Given the description of an element on the screen output the (x, y) to click on. 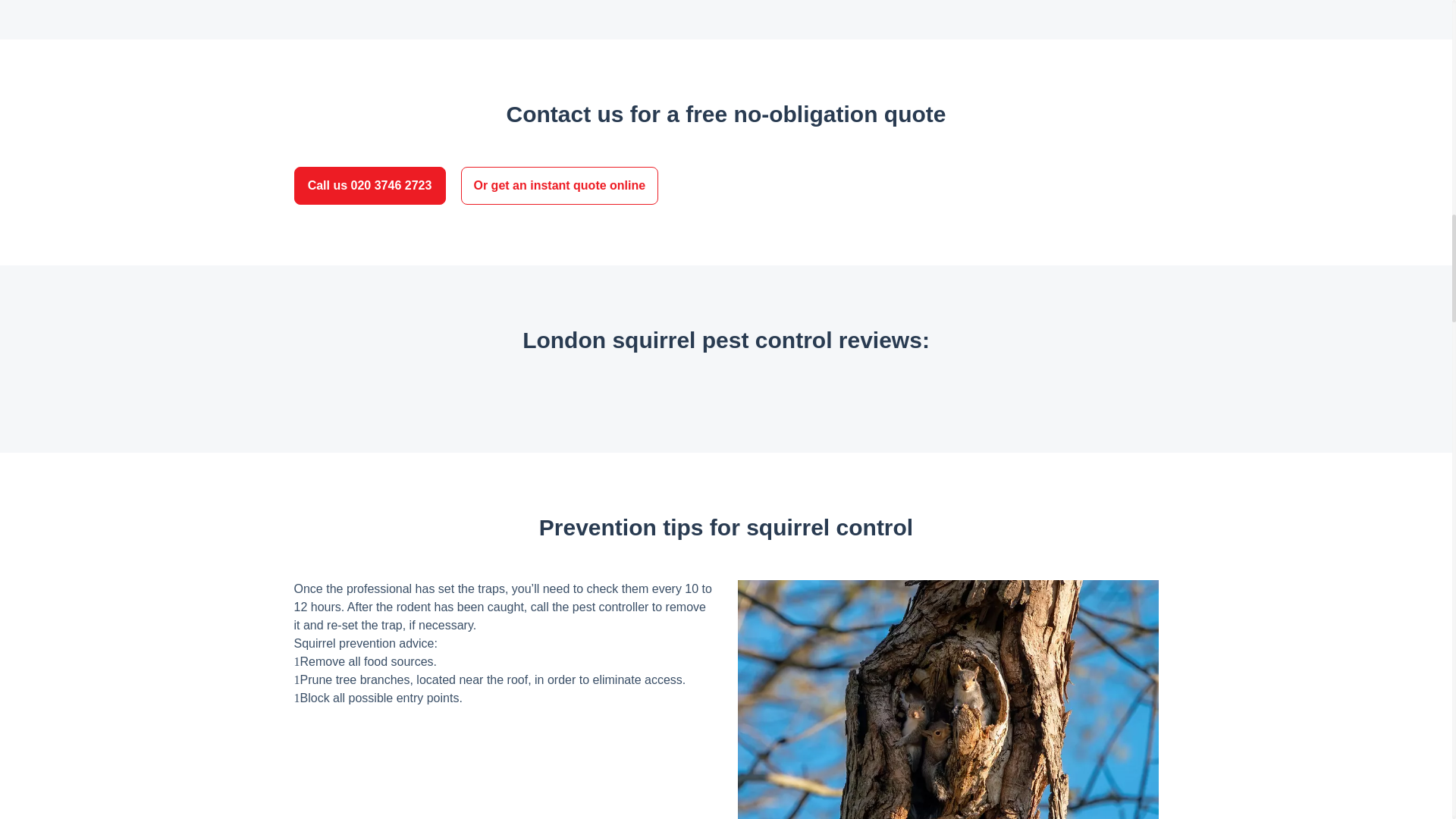
Call us 020 3746 2723 (369, 185)
Or get an instant quote online (560, 185)
